Given the description of an element on the screen output the (x, y) to click on. 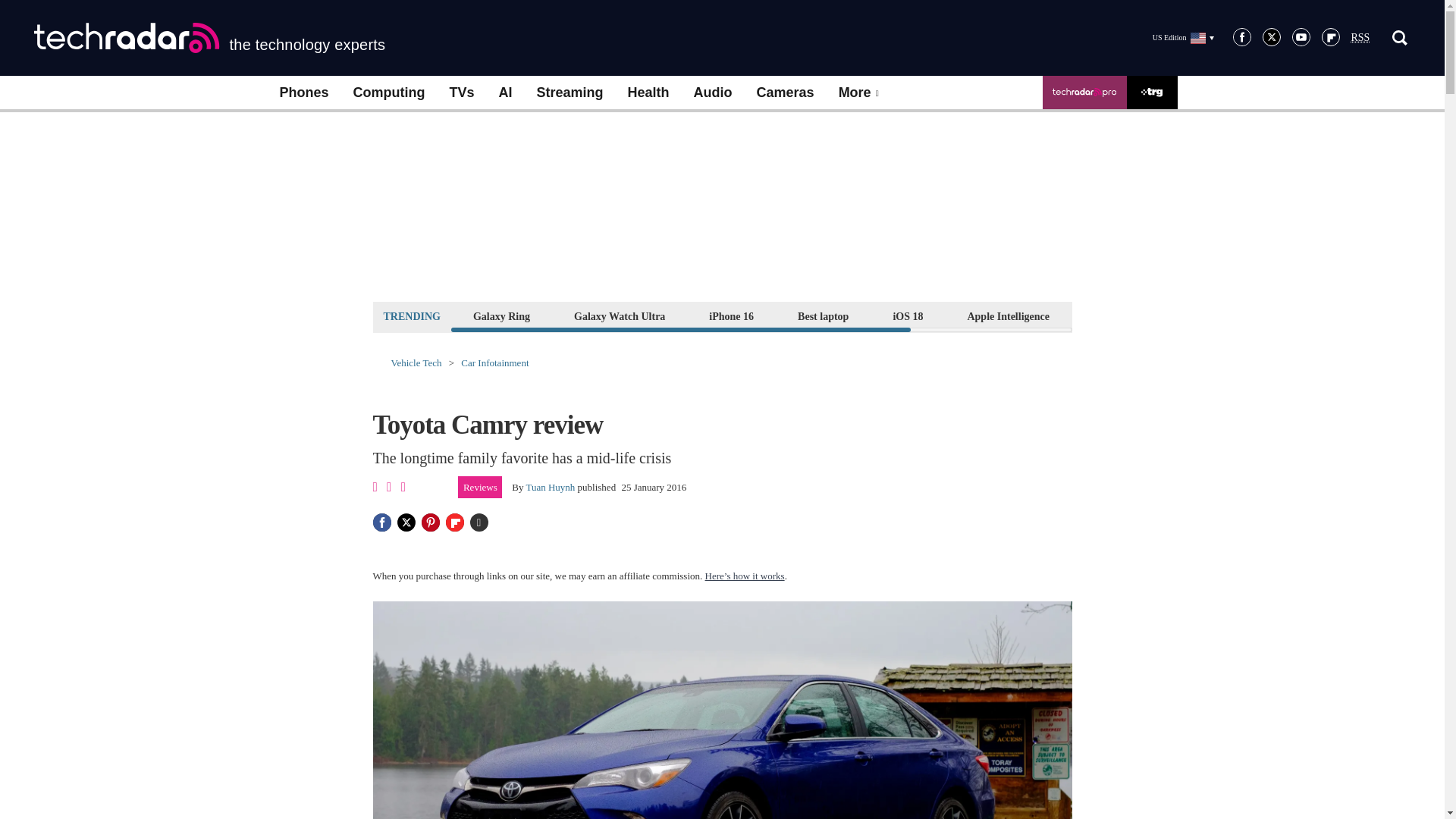
Really Simple Syndication (1360, 37)
AI (505, 92)
Audio (712, 92)
US Edition (1182, 37)
Phones (303, 92)
TVs (461, 92)
Health (648, 92)
Computing (389, 92)
Cameras (785, 92)
Streaming (569, 92)
the technology experts (209, 38)
